Given the description of an element on the screen output the (x, y) to click on. 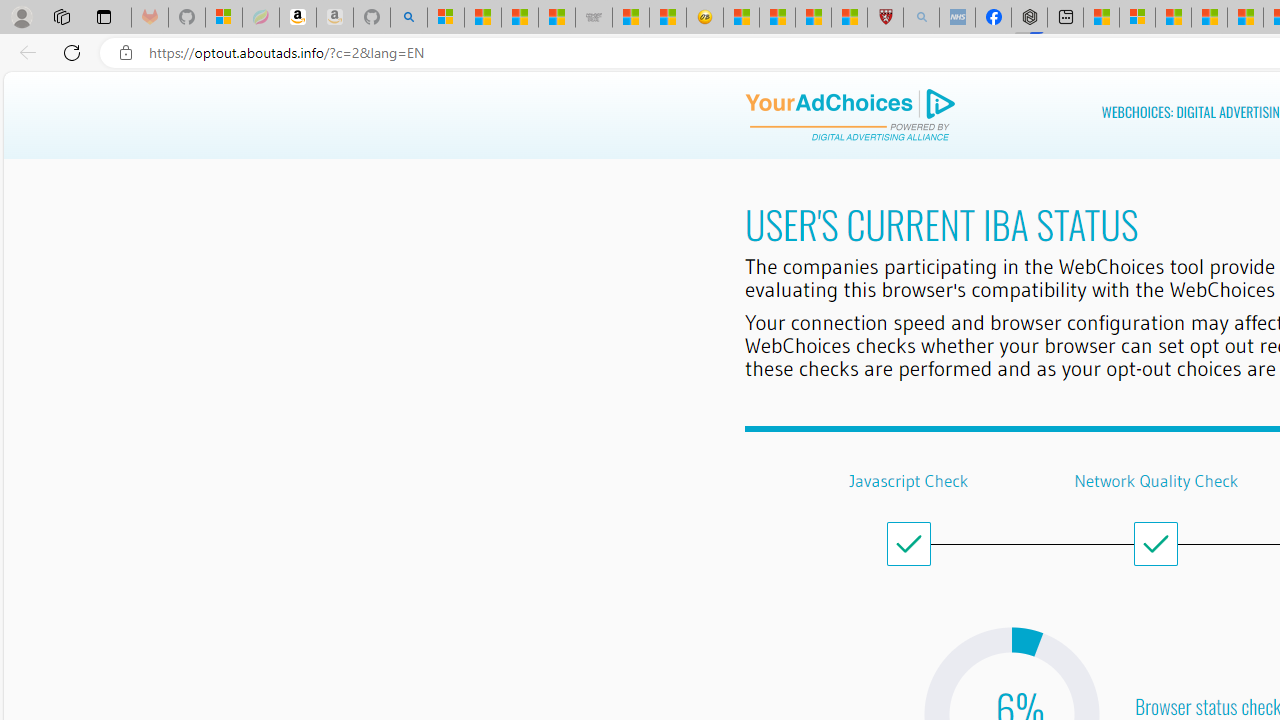
Class: icon icon-check (1156, 544)
14 Common Myths Debunked By Scientific Facts (1245, 17)
Stocks - MSN (556, 17)
DAA Logo (850, 115)
